Given the description of an element on the screen output the (x, y) to click on. 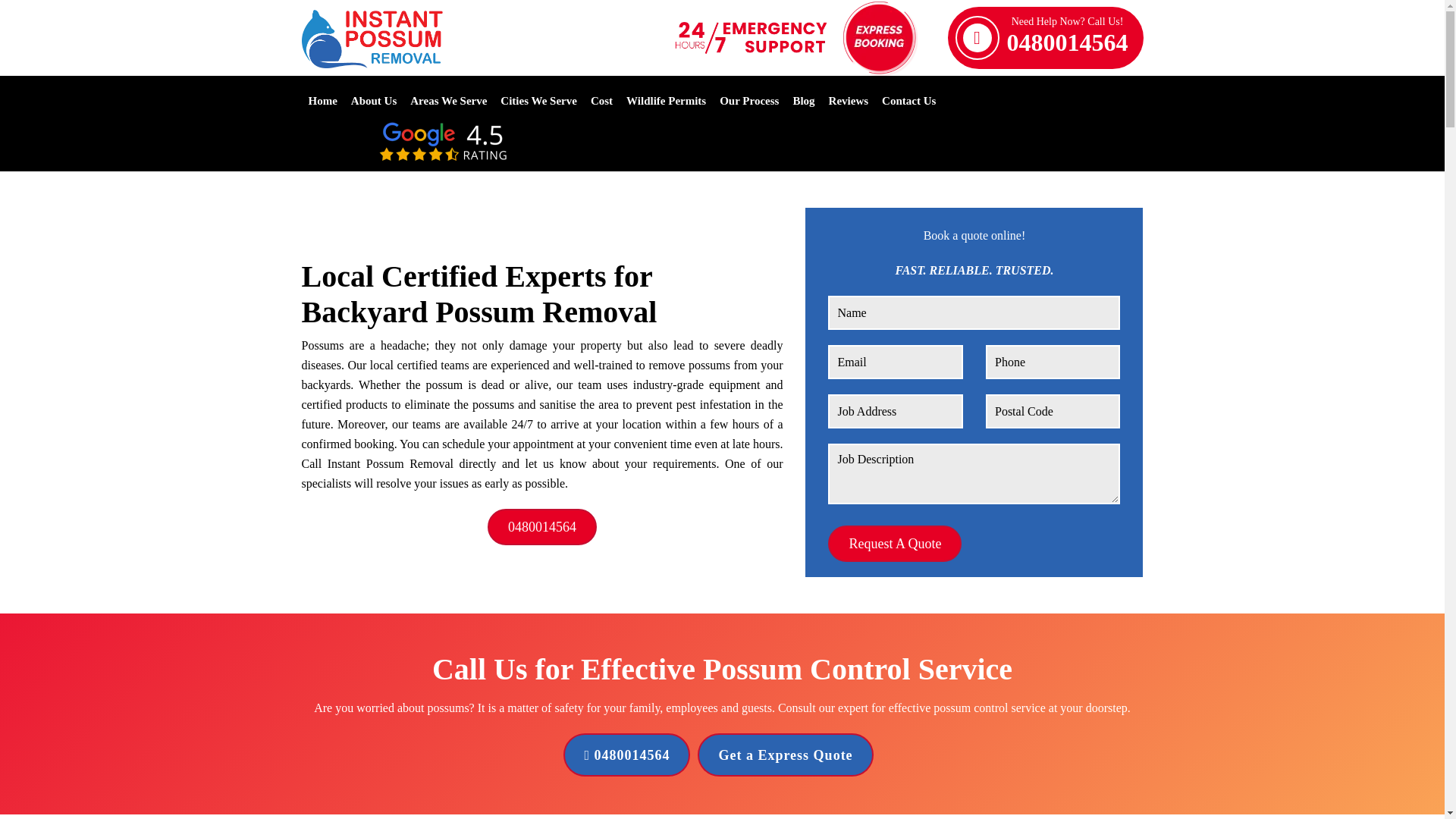
Home (321, 100)
Our Process (748, 100)
Reviews (848, 100)
Contact Us (909, 100)
Wildlife Permits (666, 100)
Cost (601, 100)
Areas We Serve (1067, 37)
Request A Quote (448, 100)
Get a Express Quote (894, 543)
